Given the description of an element on the screen output the (x, y) to click on. 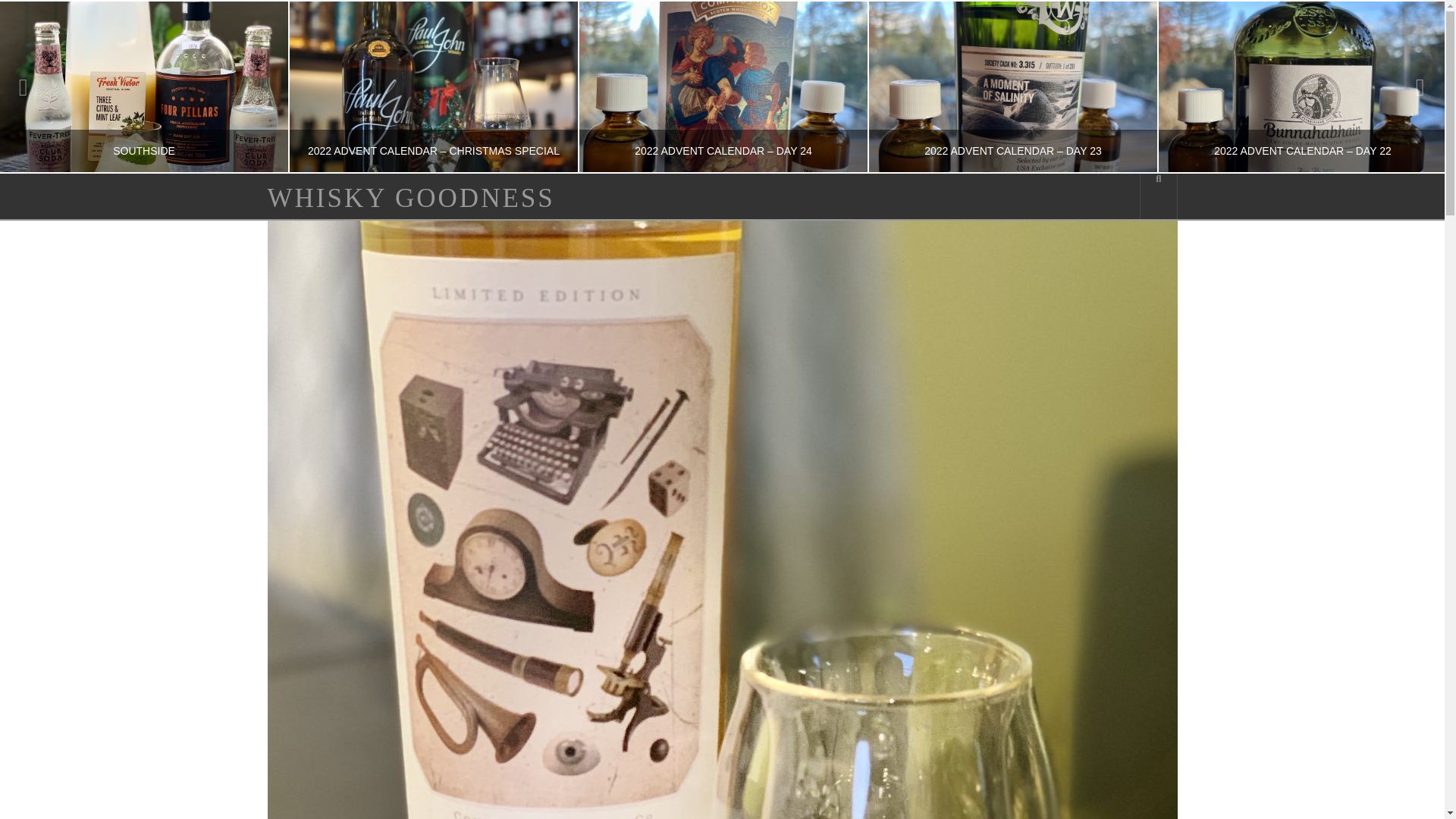
SOUTHSIDE (144, 86)
WHISKY GOODNESS (410, 198)
Previous (31, 86)
Next (1412, 86)
